Given the description of an element on the screen output the (x, y) to click on. 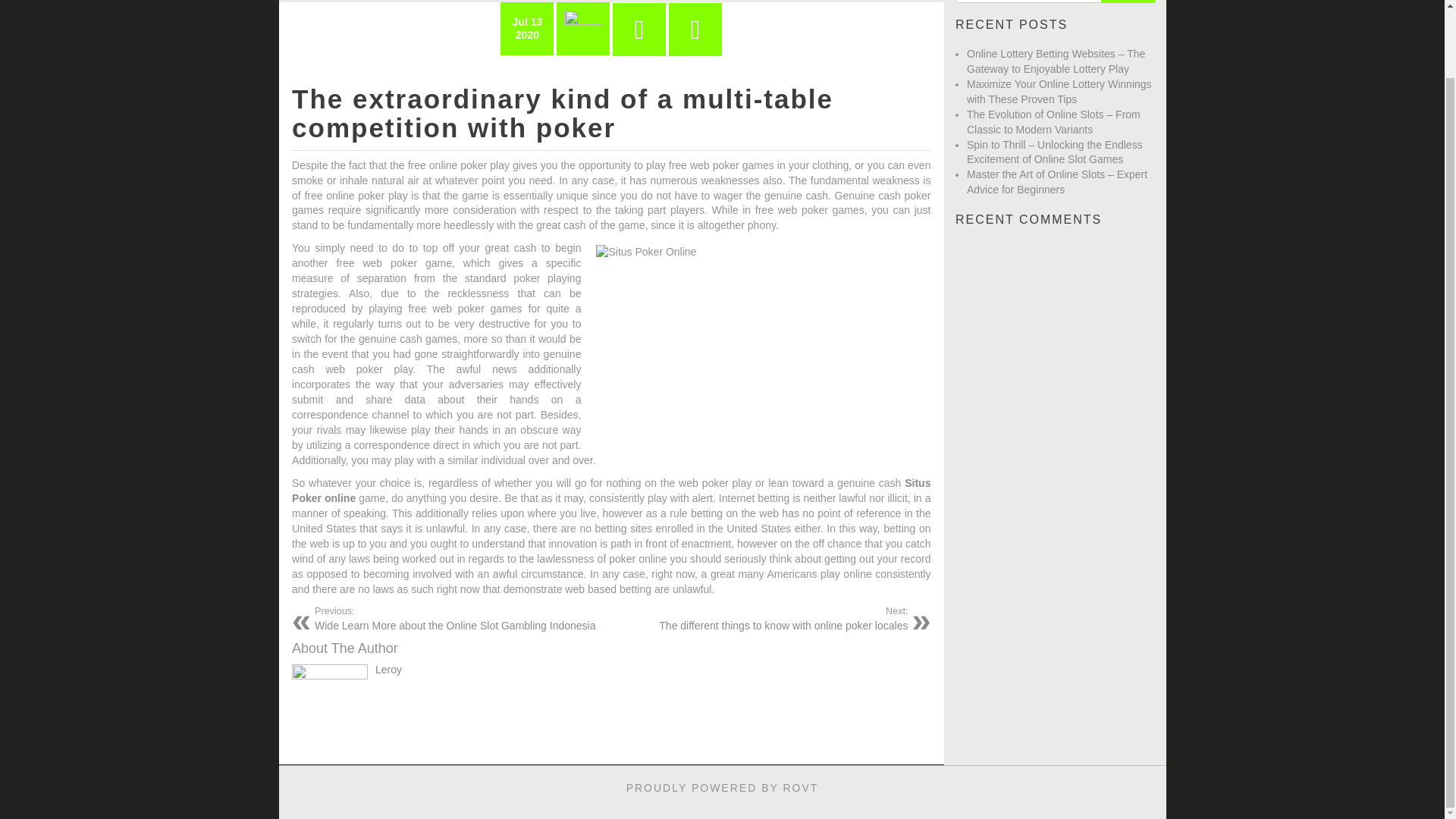
Leroy (388, 669)
Search (1127, 1)
Situs Poker online (611, 490)
Search (1127, 1)
Maximize Your Online Lottery Winnings with These Proven Tips (1058, 91)
Posts by Leroy (388, 669)
